Given the description of an element on the screen output the (x, y) to click on. 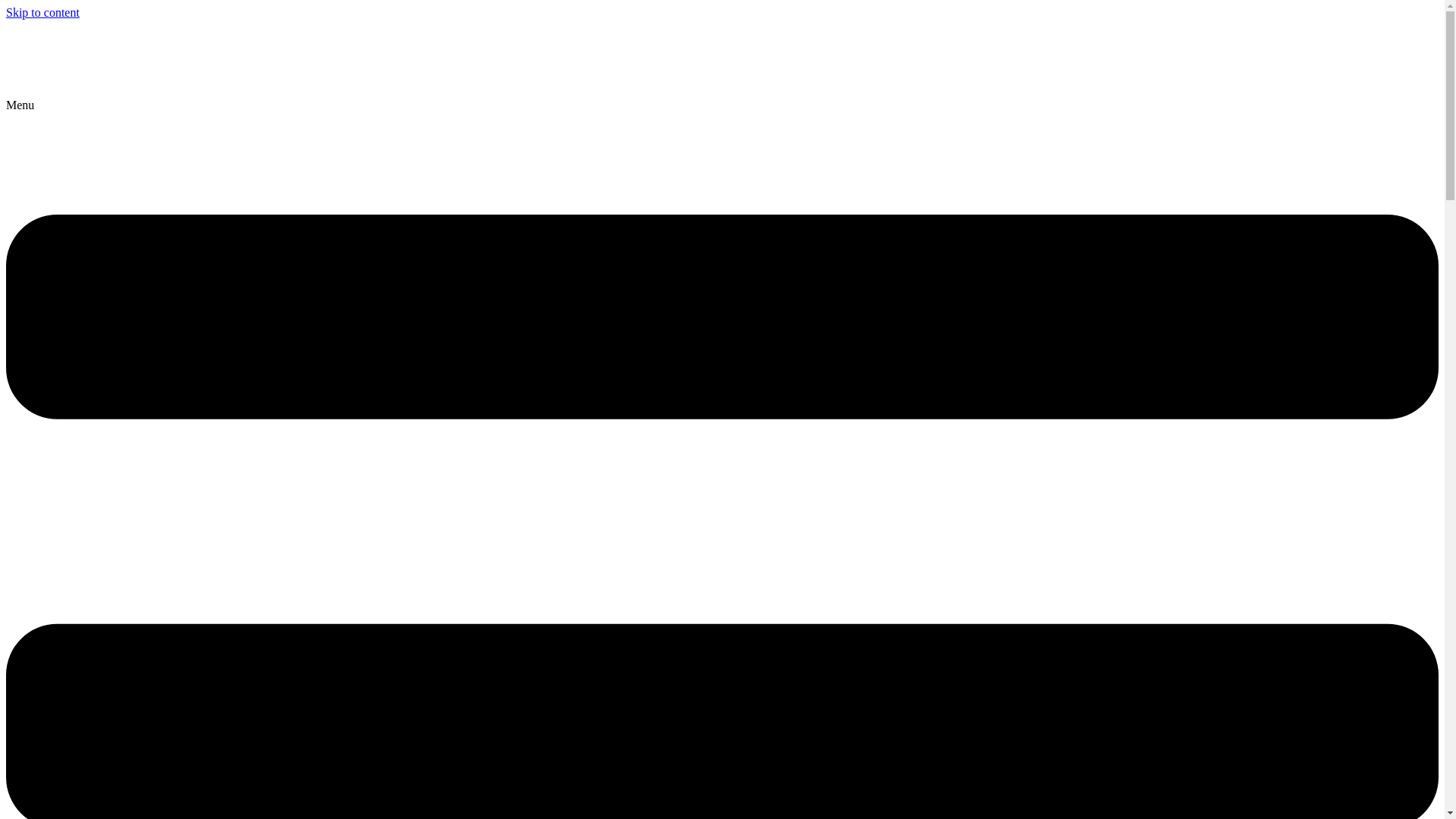
Skip to content (42, 11)
